Given the description of an element on the screen output the (x, y) to click on. 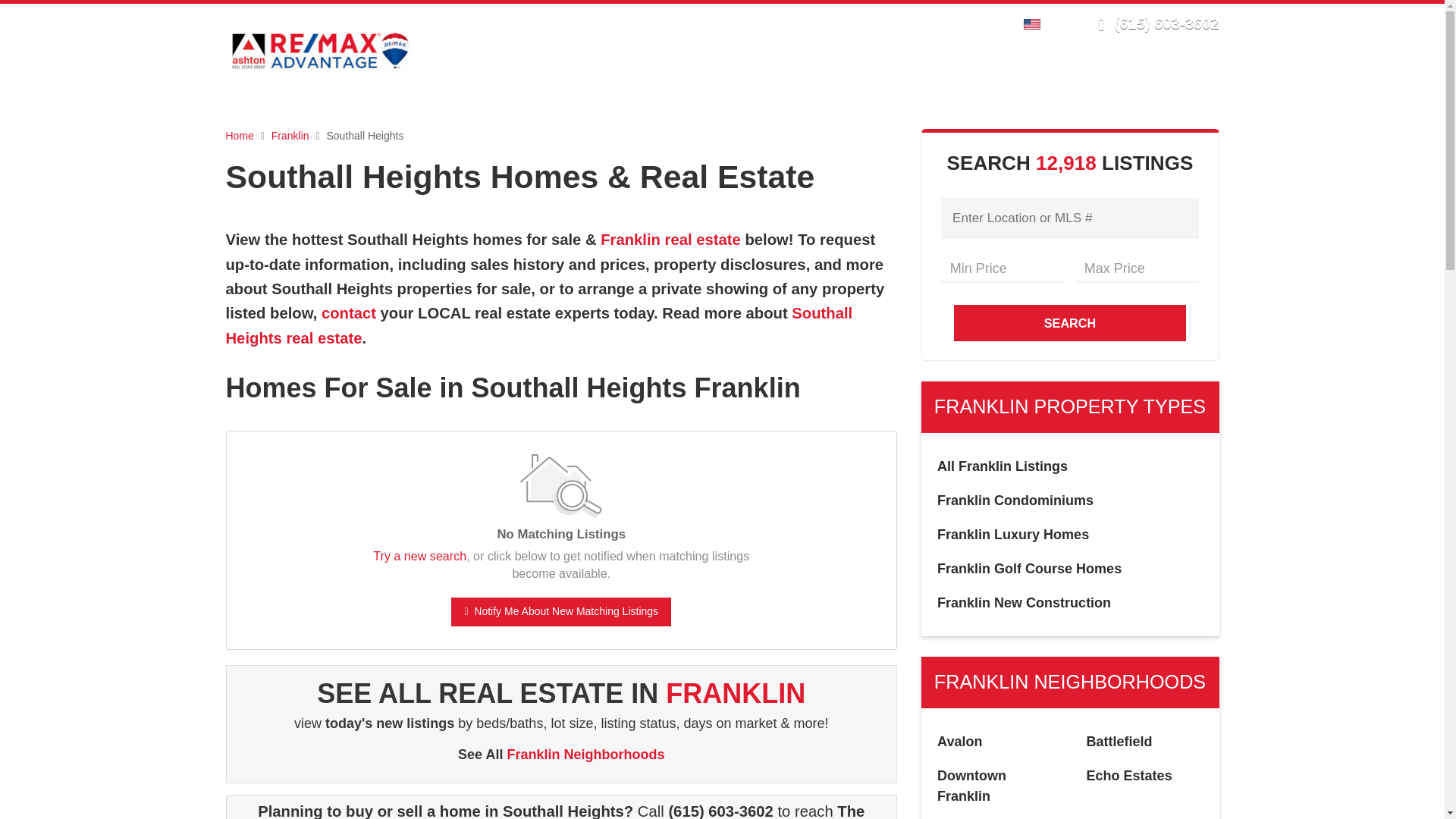
Buyers (962, 77)
Select Language (1035, 23)
Login (900, 23)
Register (948, 23)
Communities (869, 77)
Home Page (319, 50)
Search (775, 77)
Sellers (1036, 77)
